Given the description of an element on the screen output the (x, y) to click on. 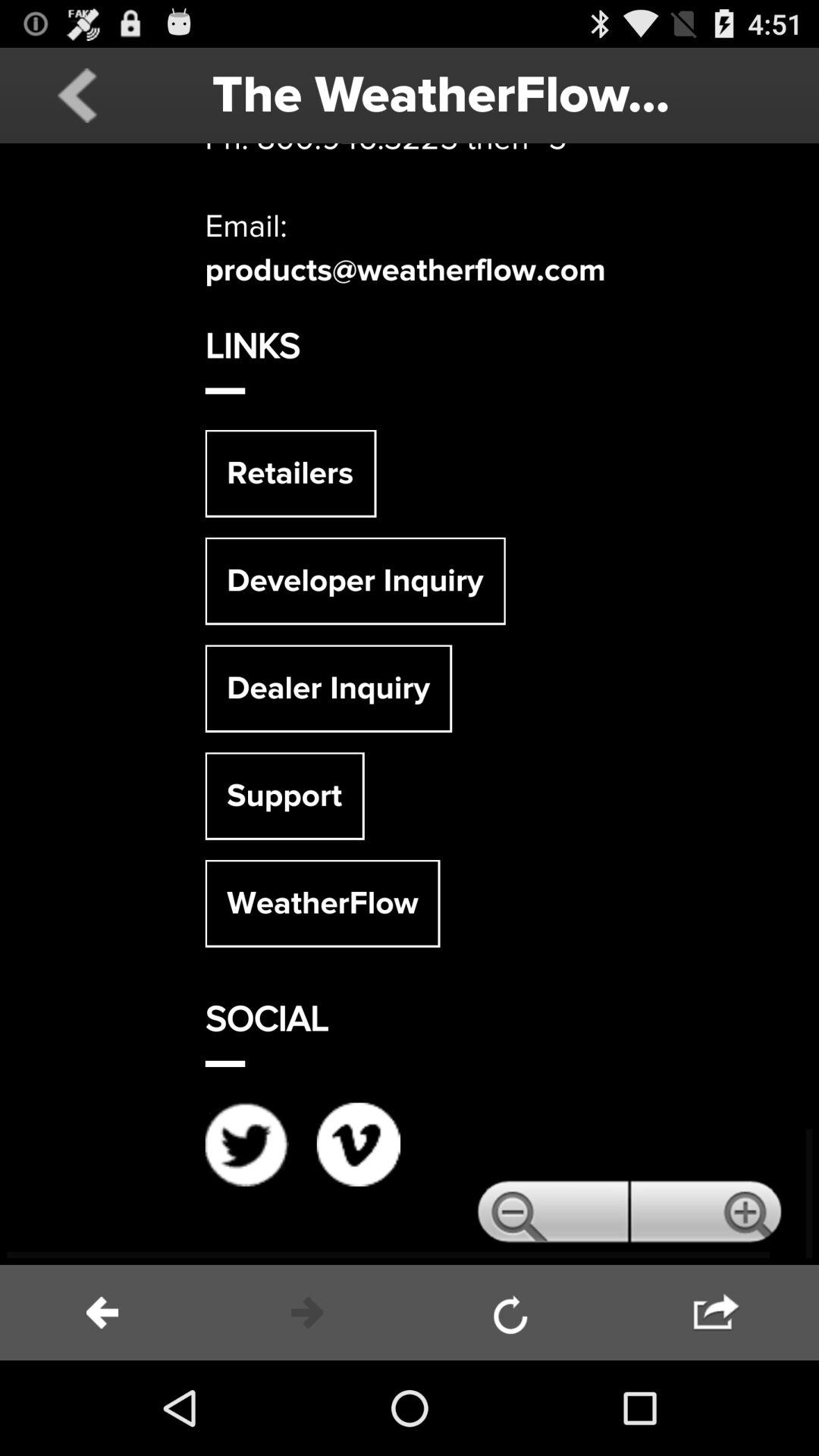
go back (77, 95)
